Given the description of an element on the screen output the (x, y) to click on. 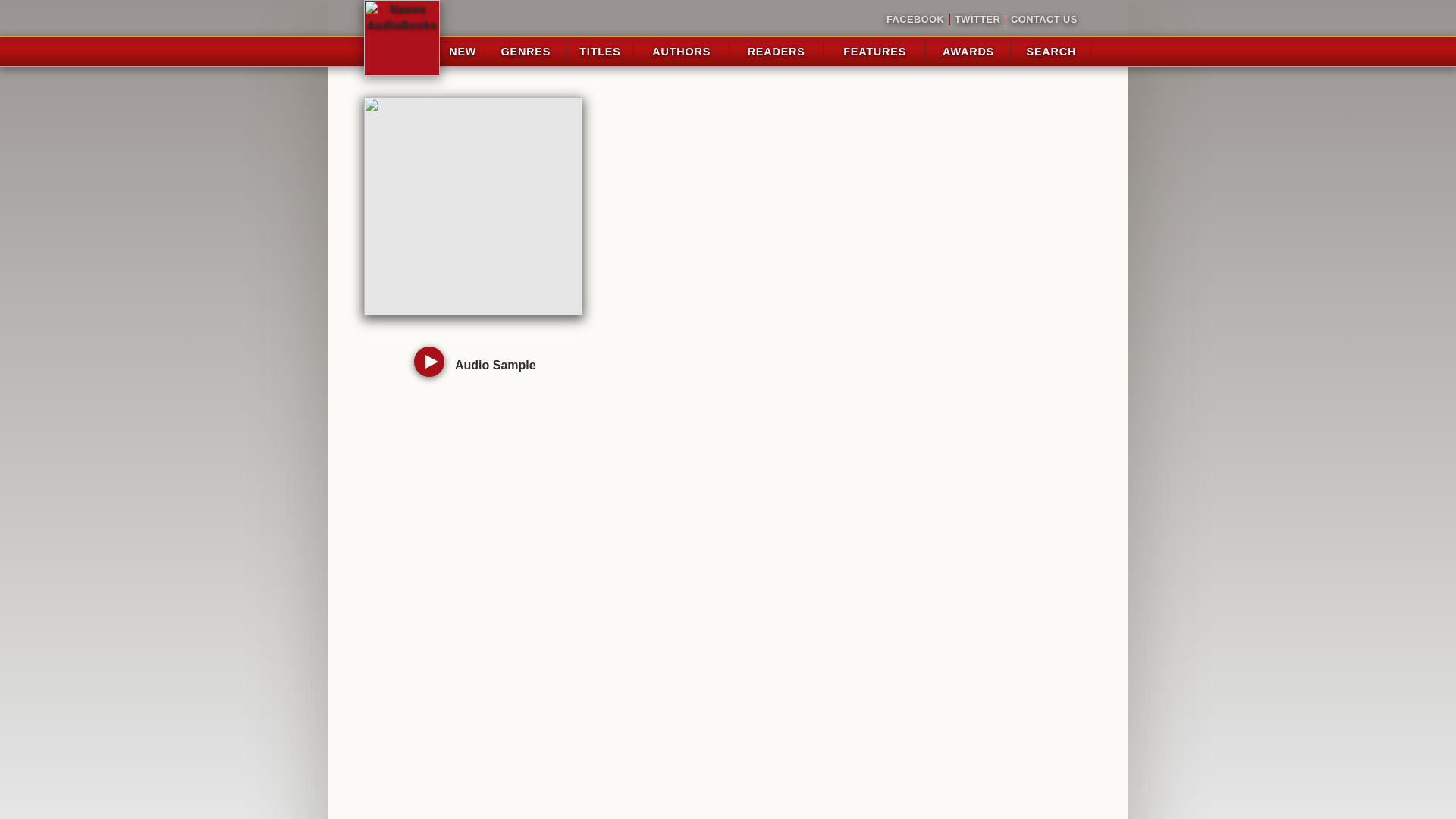
FEATURES (874, 51)
NEW (462, 51)
SEARCH (1051, 51)
AWARDS (968, 51)
TWITTER (977, 19)
HOME (401, 38)
READERS (776, 51)
FACEBOOK (914, 19)
GENRES (525, 51)
CONTACT US (1041, 19)
AUTHORS (681, 51)
TITLES (599, 51)
